Given the description of an element on the screen output the (x, y) to click on. 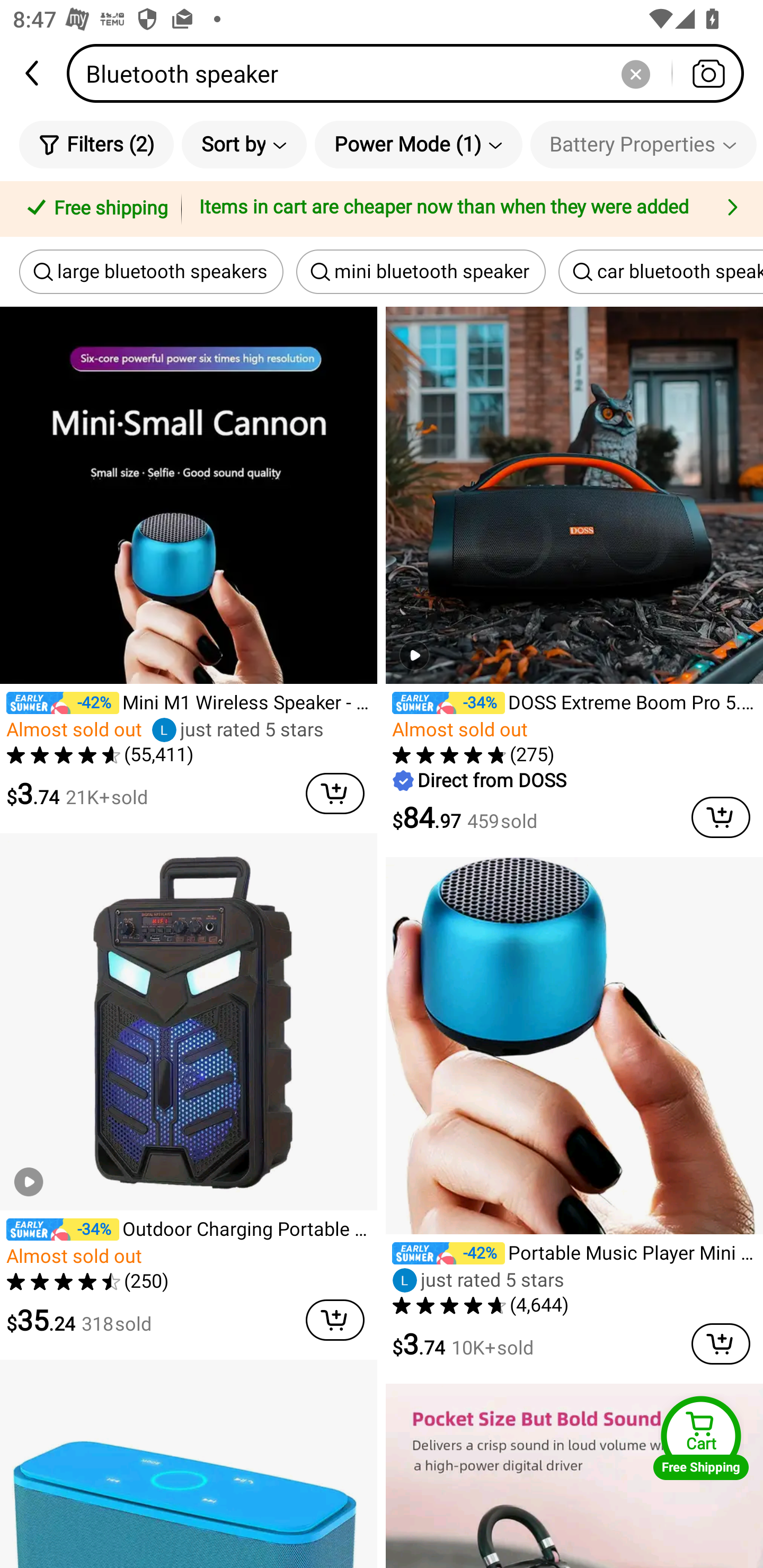
back (33, 72)
Bluetooth speaker (411, 73)
Delete search history (635, 73)
Search by photo (708, 73)
Filters (2) (96, 143)
Sort by (243, 143)
Power Mode (1) (418, 143)
Battery Properties (643, 143)
 Free shipping (93, 208)
large bluetooth speakers (151, 271)
mini bluetooth speaker (420, 271)
car bluetooth speaker (660, 271)
Cart Free Shipping Cart (701, 1437)
